Given the description of an element on the screen output the (x, y) to click on. 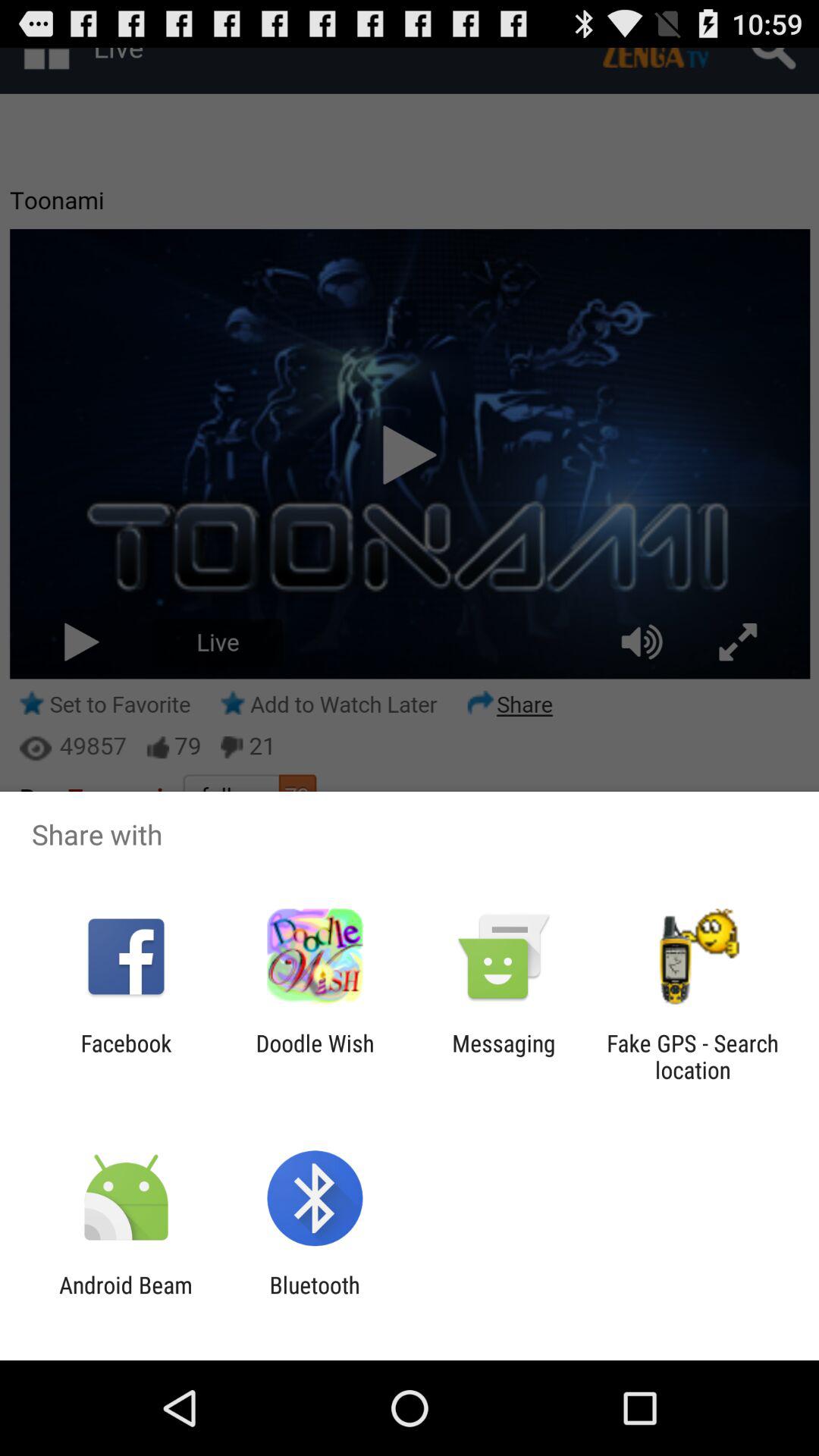
select the item next to the bluetooth icon (125, 1298)
